Given the description of an element on the screen output the (x, y) to click on. 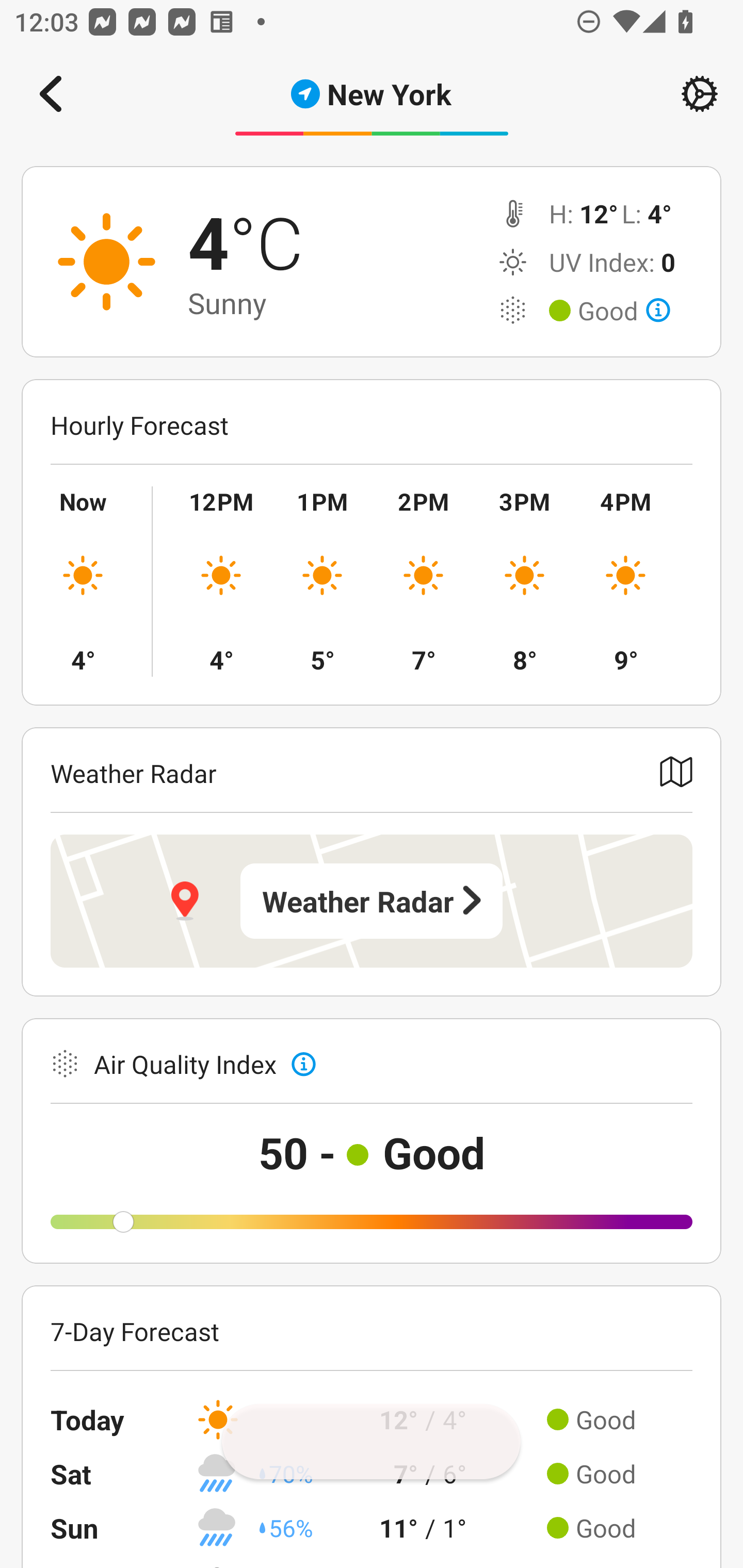
Navigate up (50, 93)
Setting (699, 93)
Good (624, 310)
Weather Radar (371, 900)
